Given the description of an element on the screen output the (x, y) to click on. 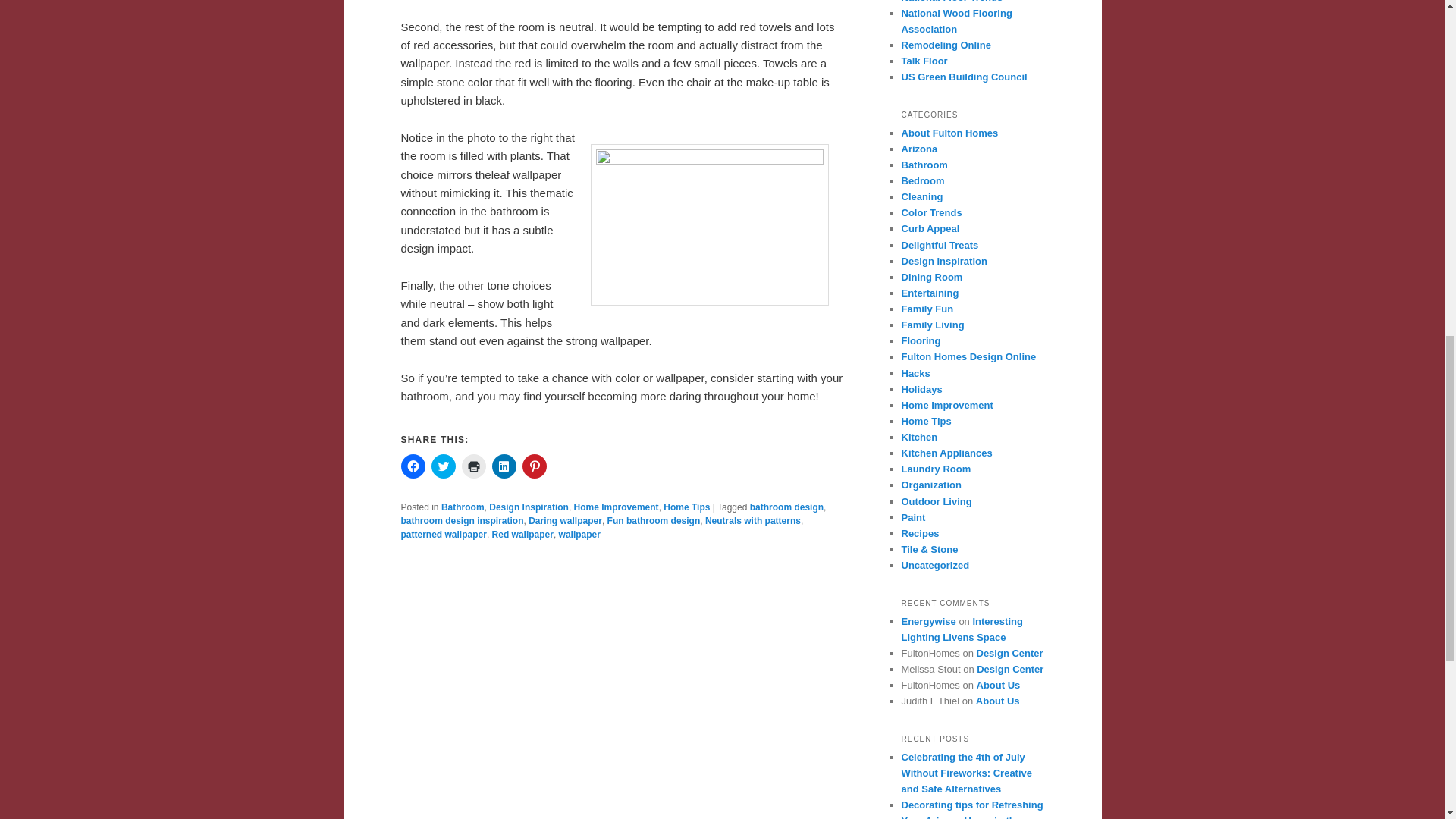
Click to share on Pinterest (533, 466)
Fun bathroom design (653, 520)
Click to share on Twitter (442, 466)
Neutrals with patterns (752, 520)
bathroom design (786, 507)
Click to print (472, 466)
Click to share on LinkedIn (503, 466)
patterned wallpaper (443, 534)
Home Tips (686, 507)
wallpaper (579, 534)
Red wallpaper (522, 534)
Screen Shot 2012-11-27 at 9.51.47 AM (708, 224)
bathroom design inspiration (461, 520)
Bathroom (462, 507)
Click to share on Facebook (412, 466)
